Given the description of an element on the screen output the (x, y) to click on. 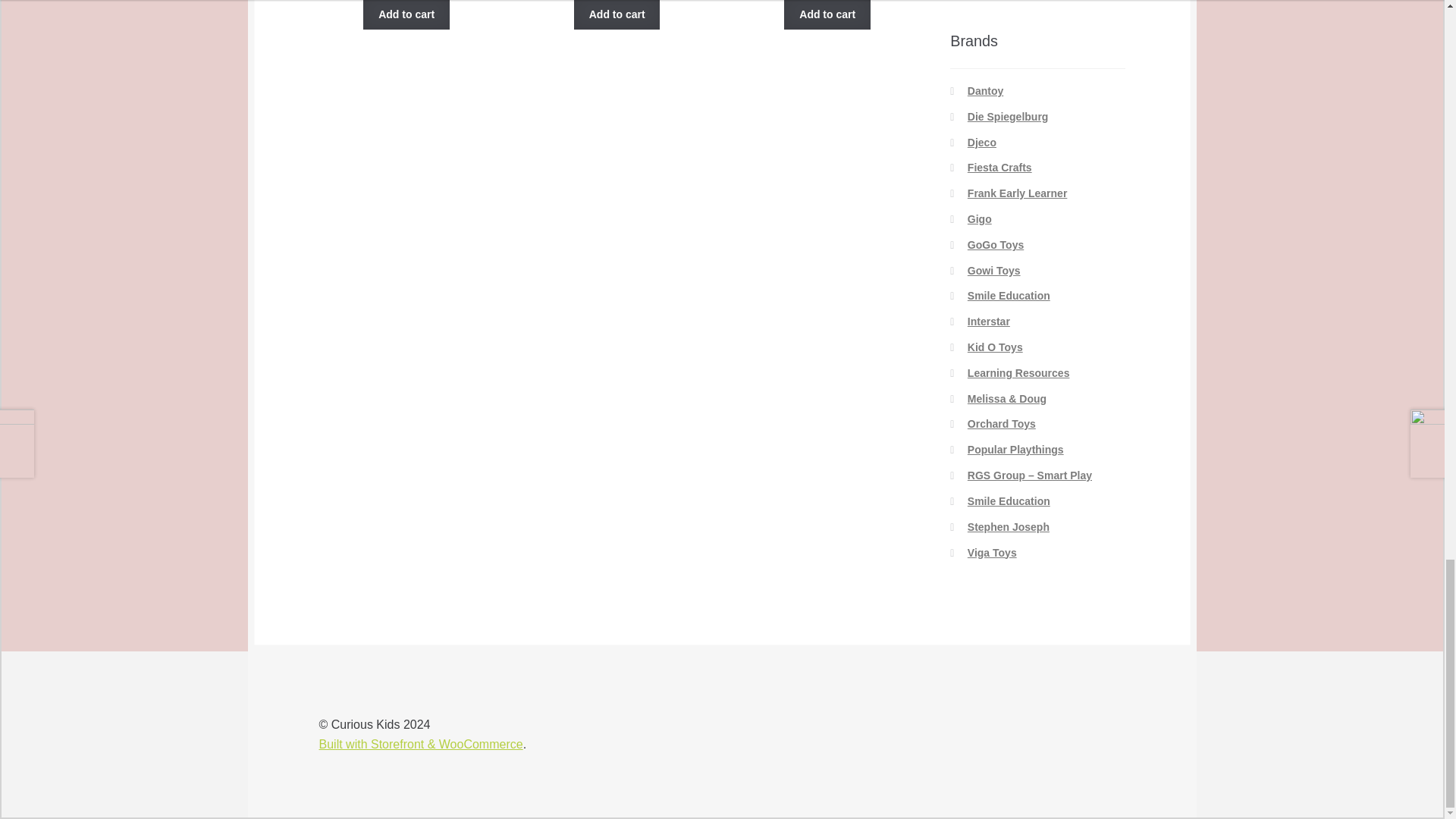
Add to cart (827, 14)
Add to cart (405, 14)
Add to cart (617, 14)
WooCommerce - The Best eCommerce Platform for WordPress (420, 744)
